Given the description of an element on the screen output the (x, y) to click on. 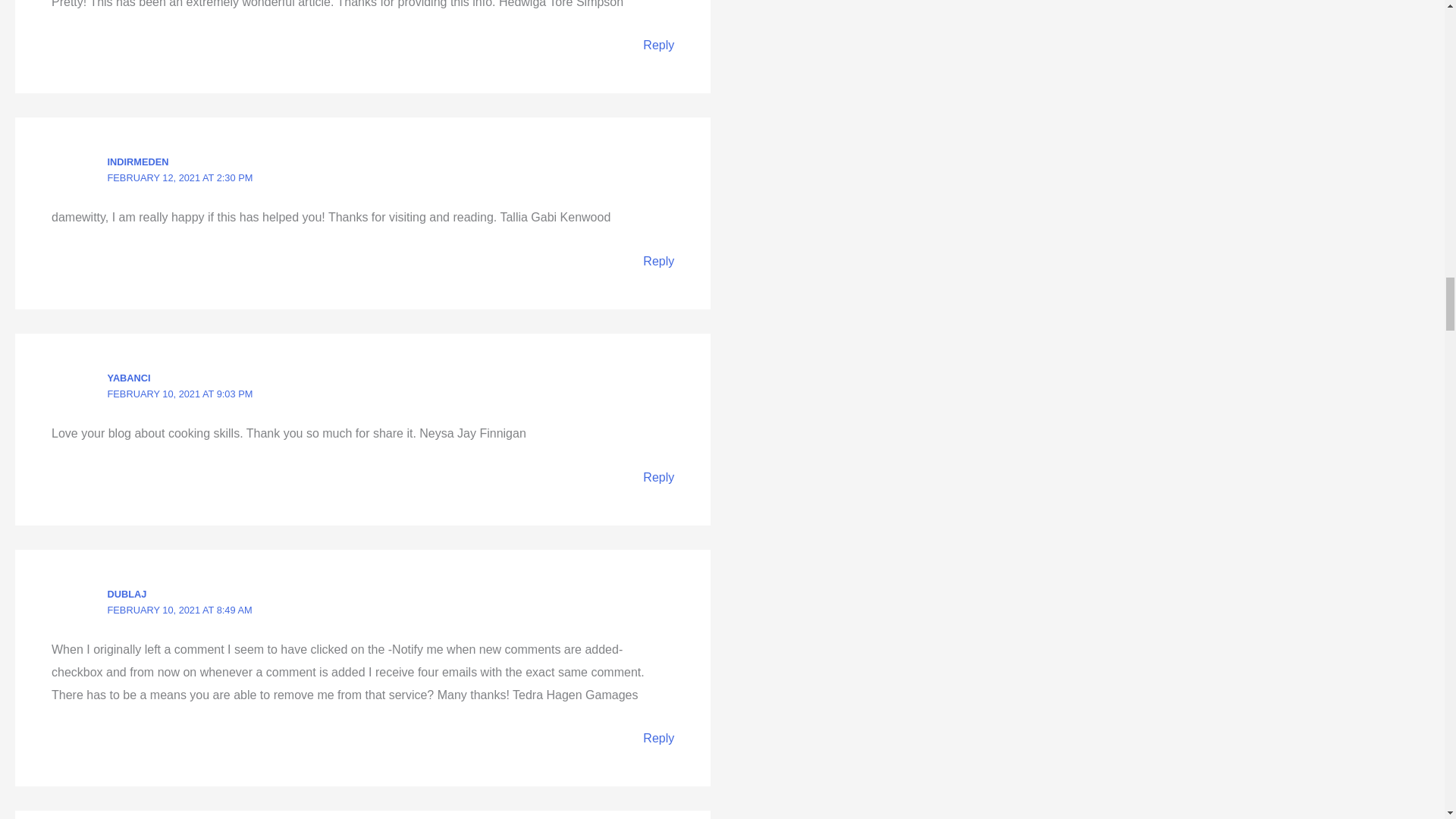
Reply (658, 44)
INDIRMEDEN (137, 161)
Reply (658, 260)
FEBRUARY 12, 2021 AT 2:30 PM (180, 177)
